Given the description of an element on the screen output the (x, y) to click on. 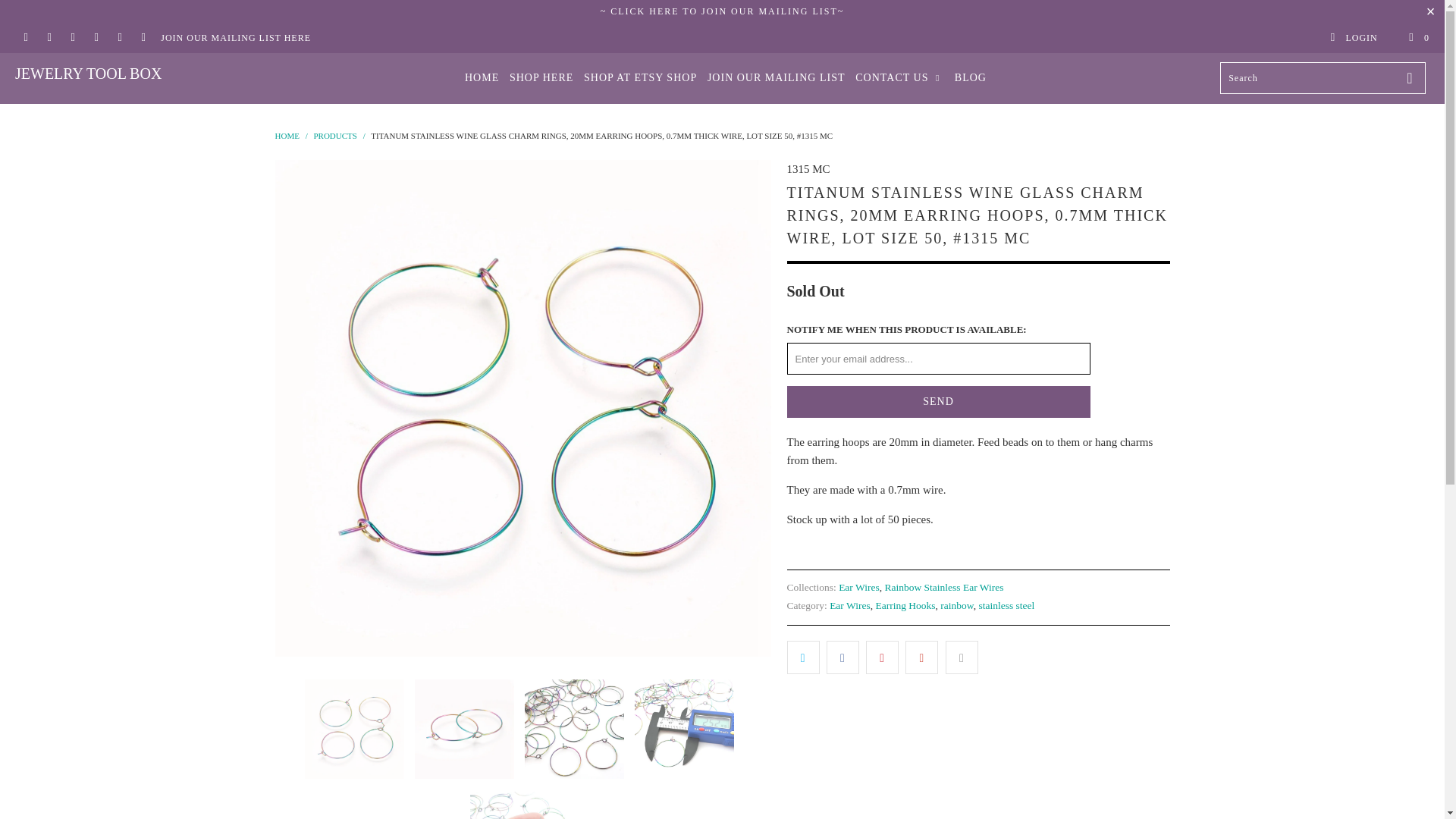
JOIN OUR MAILING LIST HERE (235, 37)
Jewelry Tool Box (286, 135)
Email Jewelry Tool Box (142, 37)
Join Our Mailing List (724, 10)
Rainbow Stainless Ear Wires (943, 586)
Jewelry Tool Box on Instagram (119, 37)
Jewelry Tool Box (122, 73)
Jewelry Tool Box on Pinterest (94, 37)
Jewelry Tool Box on Facebook (48, 37)
Jewelry Tool Box on YouTube (71, 37)
My Account  (1352, 37)
Ear Wires (858, 586)
Jewelry Tool Box on Twitter (25, 37)
CLICK HERE TO JOIN OUR MAILING LIST (724, 10)
Products (334, 135)
